Given the description of an element on the screen output the (x, y) to click on. 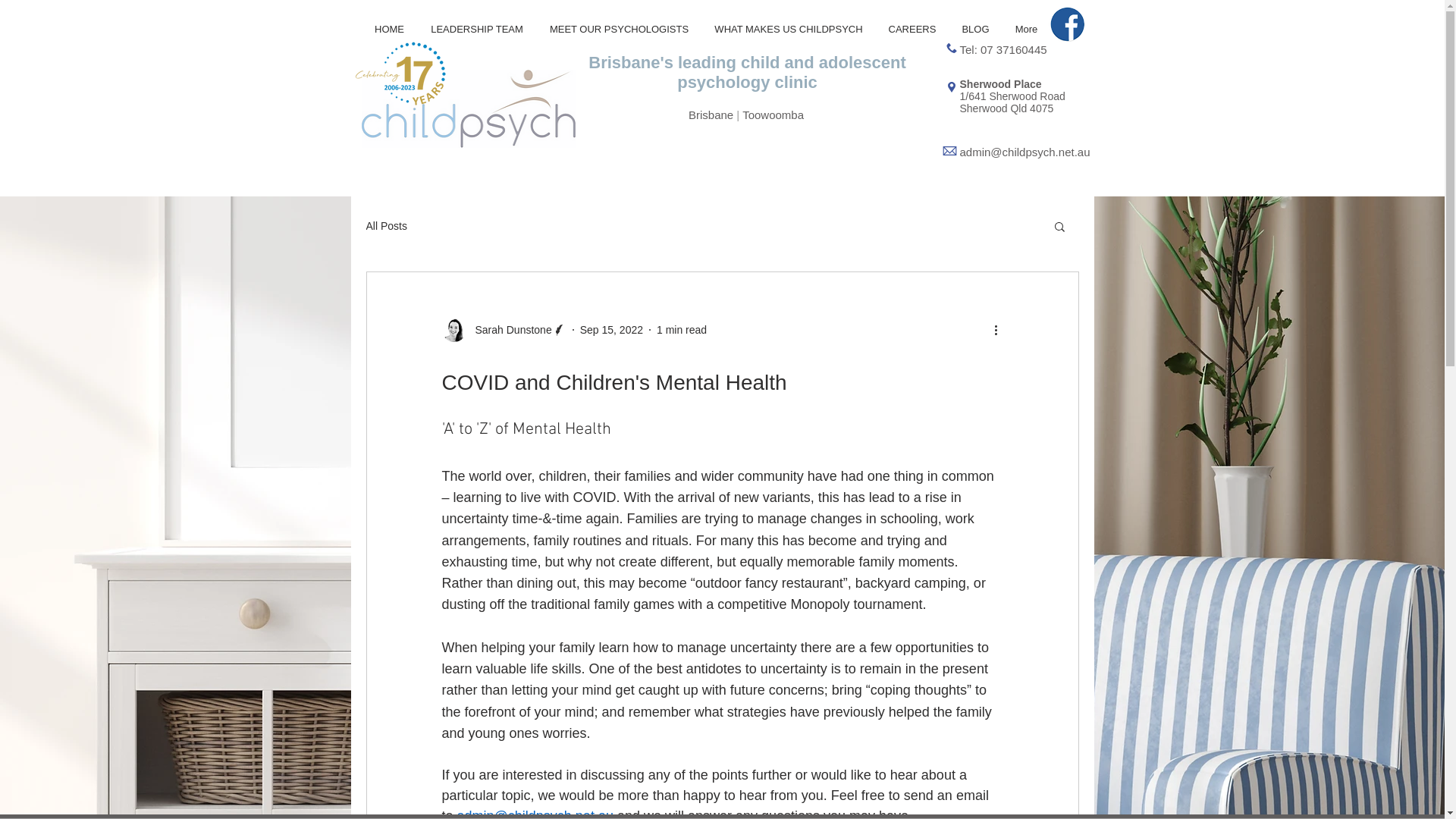
BLOG Element type: text (975, 29)
CAREERS Element type: text (911, 29)
admin@childpsych.net.au Element type: text (1025, 151)
Tel: 07 37160445 Element type: text (1003, 49)
MEET OUR PSYCHOLOGISTS Element type: text (619, 29)
Sherwood Place Element type: text (1000, 84)
All Posts Element type: text (385, 225)
HOME Element type: text (388, 29)
logo73800_md.bmp Element type: hover (467, 108)
Sarah Dunstone Element type: text (503, 329)
WHAT MAKES US CHILDPSYCH Element type: text (788, 29)
Brisbane Element type: text (712, 114)
LEADERSHIP TEAM Element type: text (476, 29)
16yrs.png Element type: hover (398, 69)
Toowoomba Element type: text (772, 114)
